Given the description of an element on the screen output the (x, y) to click on. 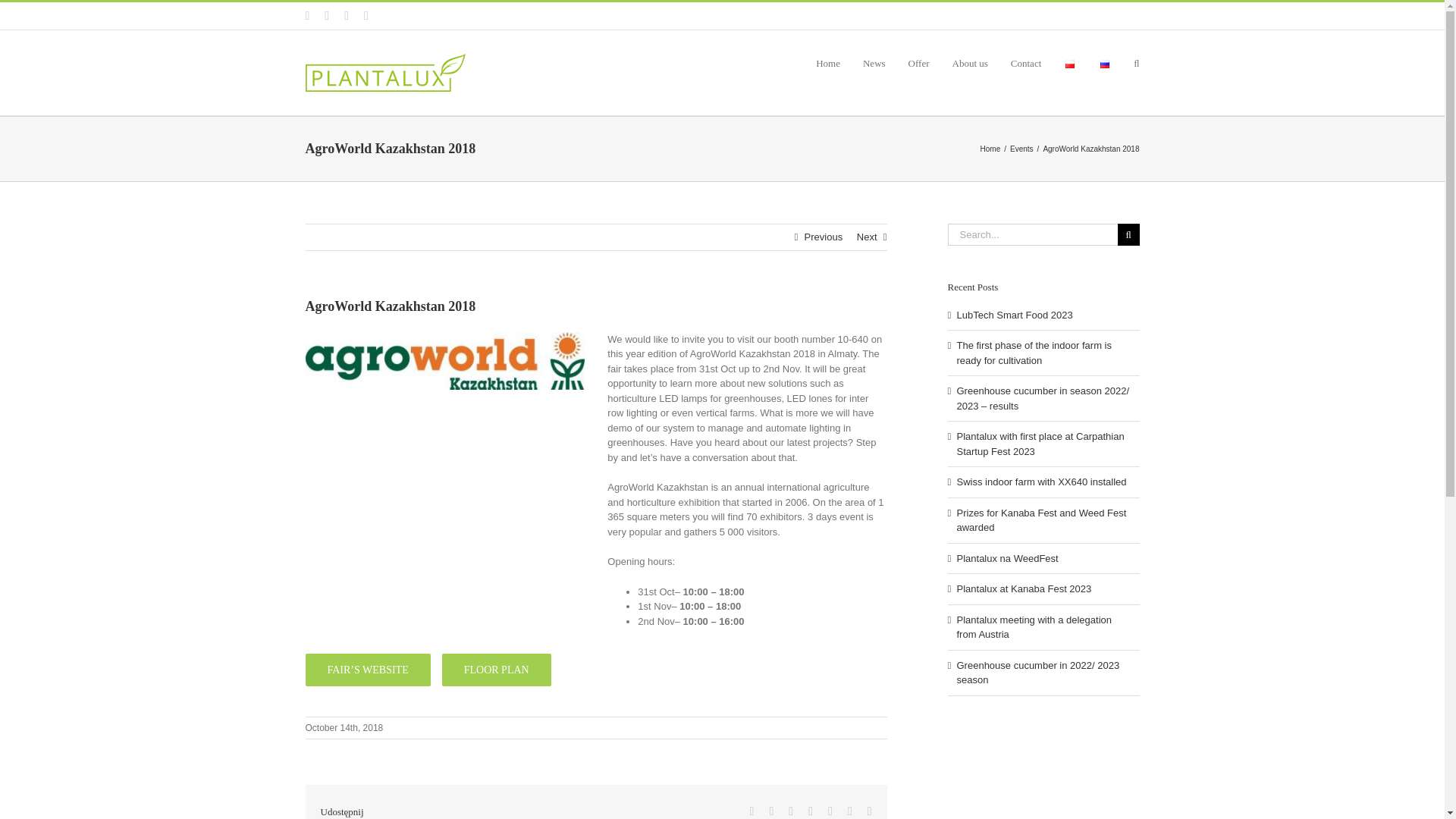
Home (990, 148)
agro world kazachstan logo (443, 360)
Events (1021, 148)
Previous (824, 237)
FLOOR PLAN (496, 669)
